Given the description of an element on the screen output the (x, y) to click on. 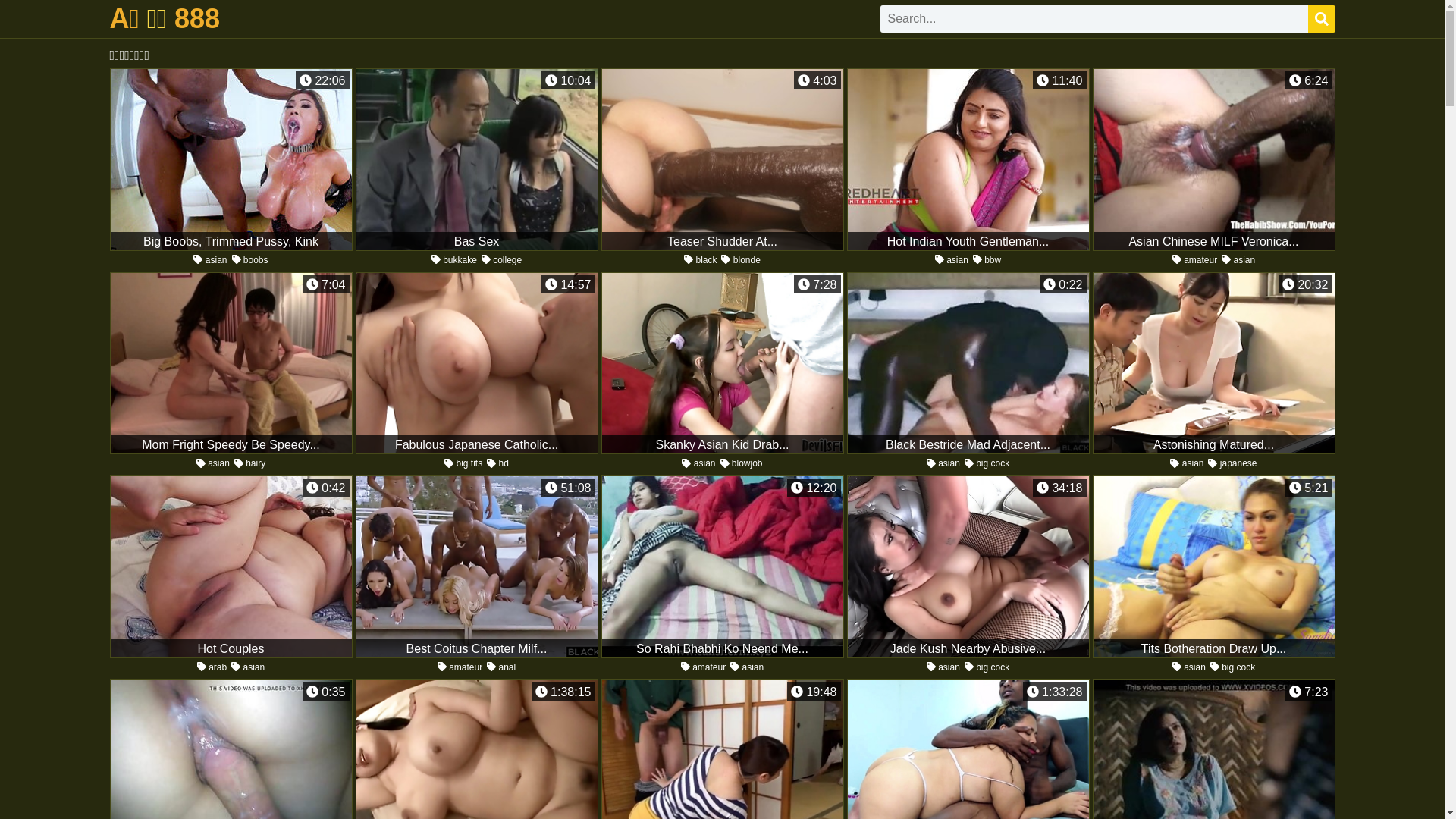
college Element type: text (501, 259)
big tits Element type: text (463, 463)
hairy Element type: text (249, 463)
4:03
Teaser Shudder At... Element type: text (721, 159)
big cock Element type: text (986, 666)
amateur Element type: text (702, 666)
black Element type: text (700, 259)
arab Element type: text (211, 666)
bukkake Element type: text (453, 259)
14:57
Fabulous Japanese Catholic... Element type: text (475, 362)
0:42
Hot Couples Element type: text (230, 566)
34:18
Jade Kush Nearby Abusive... Element type: text (967, 566)
11:40
Hot Indian Youth Gentleman... Element type: text (967, 159)
20:32
Astonishing Matured... Element type: text (1213, 362)
hd Element type: text (497, 463)
amateur Element type: text (459, 666)
7:04
Mom Fright Speedy Be Speedy... Element type: text (230, 362)
asian Element type: text (212, 463)
amateur Element type: text (1194, 259)
10:04
Bas Sex Element type: text (475, 159)
anal Element type: text (500, 666)
22:06
Big Boobs, Trimmed Pussy, Kink Element type: text (230, 159)
big cock Element type: text (1232, 666)
blowjob Element type: text (741, 463)
6:24
Asian Chinese MILF Veronica... Element type: text (1213, 159)
asian Element type: text (1186, 463)
asian Element type: text (943, 463)
big cock Element type: text (986, 463)
5:21
Tits Botheration Draw Up... Element type: text (1213, 566)
51:08
Best Coitus Chapter Milf... Element type: text (475, 566)
asian Element type: text (943, 666)
blonde Element type: text (740, 259)
asian Element type: text (951, 259)
7:28
Skanky Asian Kid Drab... Element type: text (721, 362)
asian Element type: text (1238, 259)
japanese Element type: text (1232, 463)
0:22
Black Bestride Mad Adjacent... Element type: text (967, 362)
boobs Element type: text (250, 259)
asian Element type: text (746, 666)
bbw Element type: text (986, 259)
asian Element type: text (698, 463)
12:20
So Rahi Bhabhi Ko Neend Me... Element type: text (721, 566)
asian Element type: text (1188, 666)
asian Element type: text (209, 259)
asian Element type: text (247, 666)
